Given the description of an element on the screen output the (x, y) to click on. 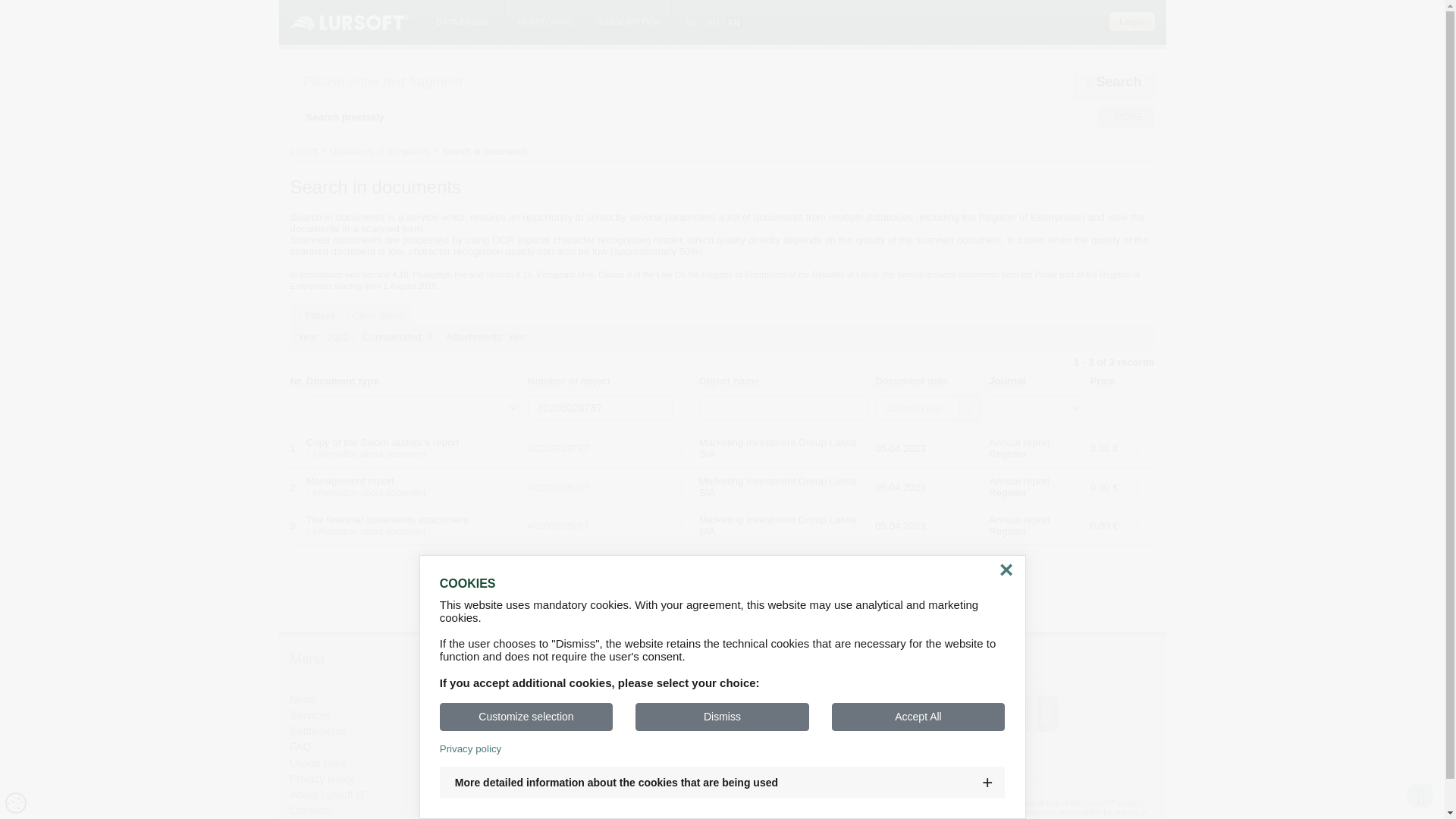
Search (1114, 81)
DATA BASES (461, 22)
Databases of companies (379, 151)
MONITORING (544, 22)
Company report (558, 448)
Lursoft in Twitter (534, 741)
English (733, 22)
Login (1131, 21)
Company report (558, 486)
Lursoft phone (552, 759)
Lursoft Skype (539, 722)
Latviski (691, 22)
MORE (1125, 116)
EN (733, 22)
Lursoft (303, 151)
